Given the description of an element on the screen output the (x, y) to click on. 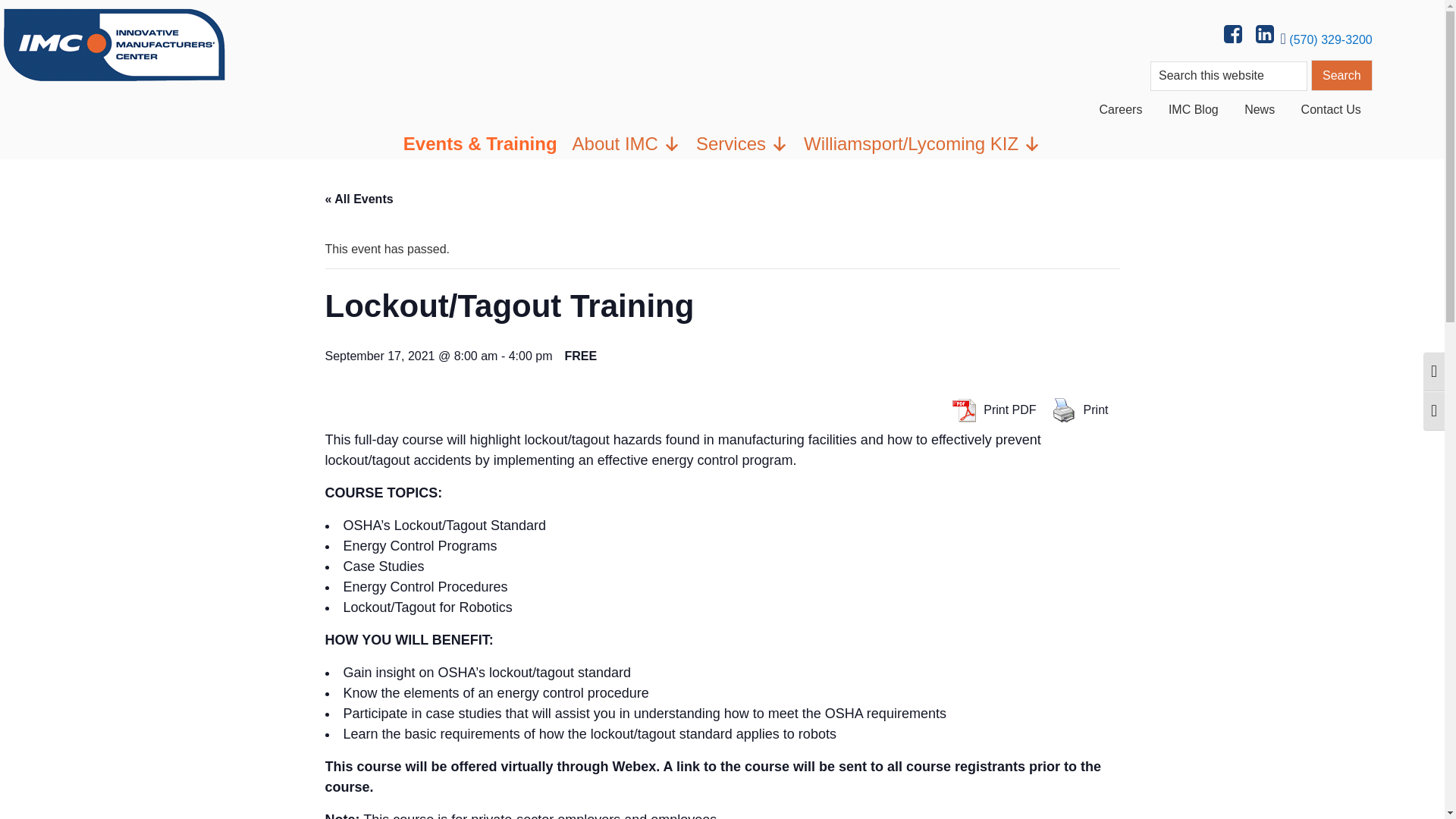
About IMC (626, 143)
Innovative Manufacturers' Center (113, 42)
Search (1342, 74)
Contact Us (1331, 109)
IMC Blog (1193, 109)
Search (1342, 74)
Services (742, 143)
Careers (1120, 109)
Search (1342, 74)
News (1259, 109)
